Given the description of an element on the screen output the (x, y) to click on. 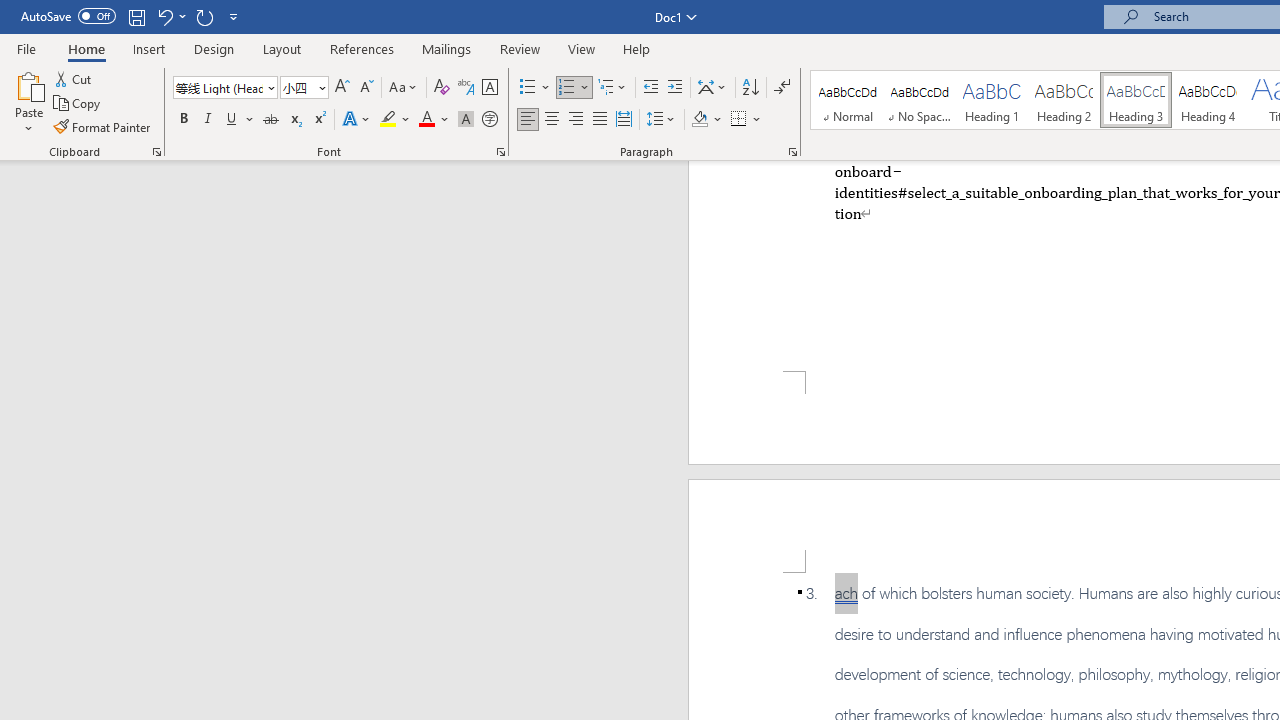
Decrease Indent (650, 87)
Copy (78, 103)
Review (520, 48)
Clear Formatting (442, 87)
Heading 1 (991, 100)
Multilevel List (613, 87)
Format Painter (103, 126)
Font Color (434, 119)
Undo Apply Quick Style (164, 15)
